Given the description of an element on the screen output the (x, y) to click on. 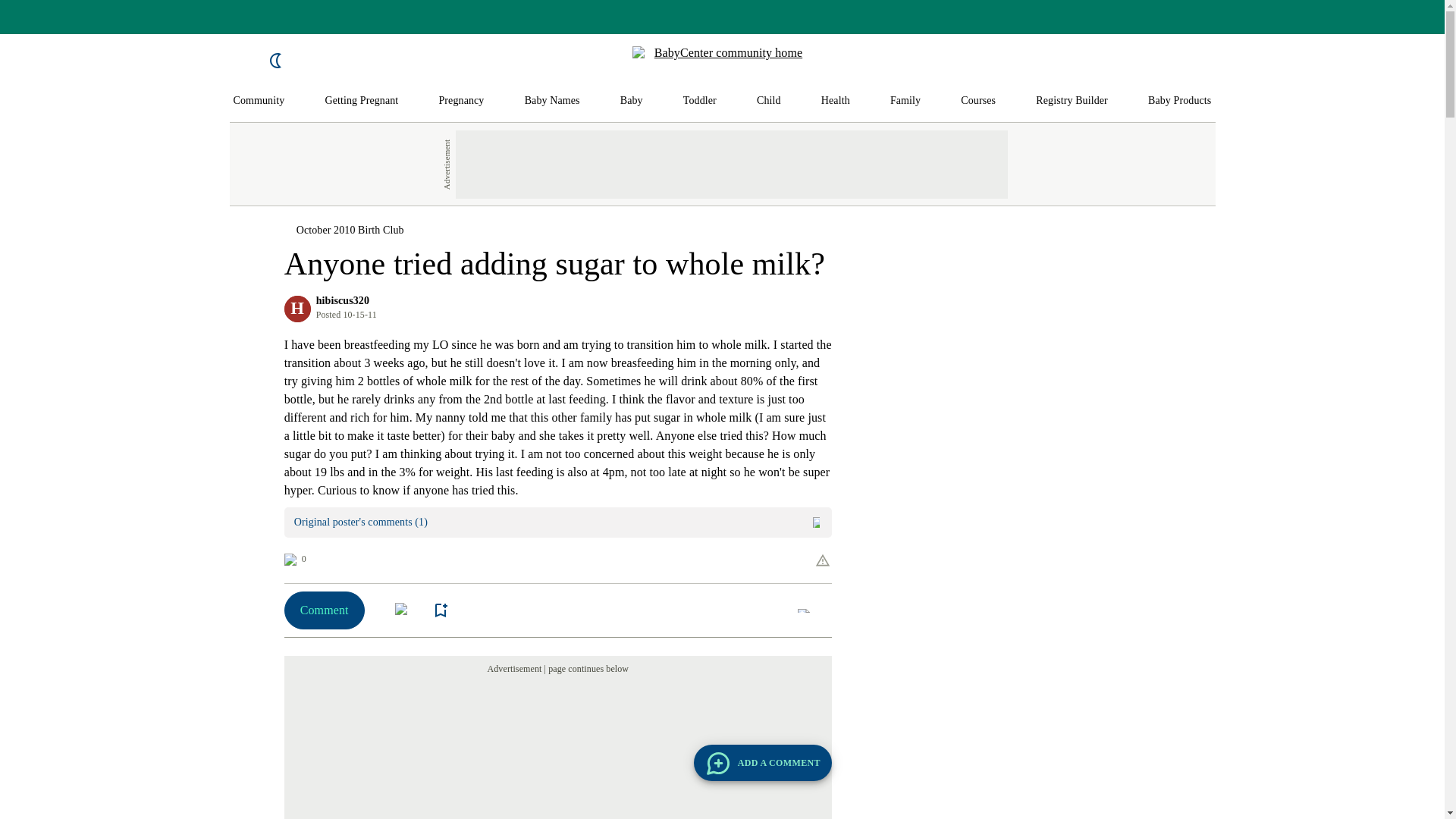
Family (904, 101)
Courses (977, 101)
Community (258, 101)
Health (835, 101)
Baby (631, 101)
Registry Builder (1071, 101)
Baby Products (1179, 101)
Getting Pregnant (360, 101)
Toddler (699, 101)
Pregnancy (460, 101)
